Given the description of an element on the screen output the (x, y) to click on. 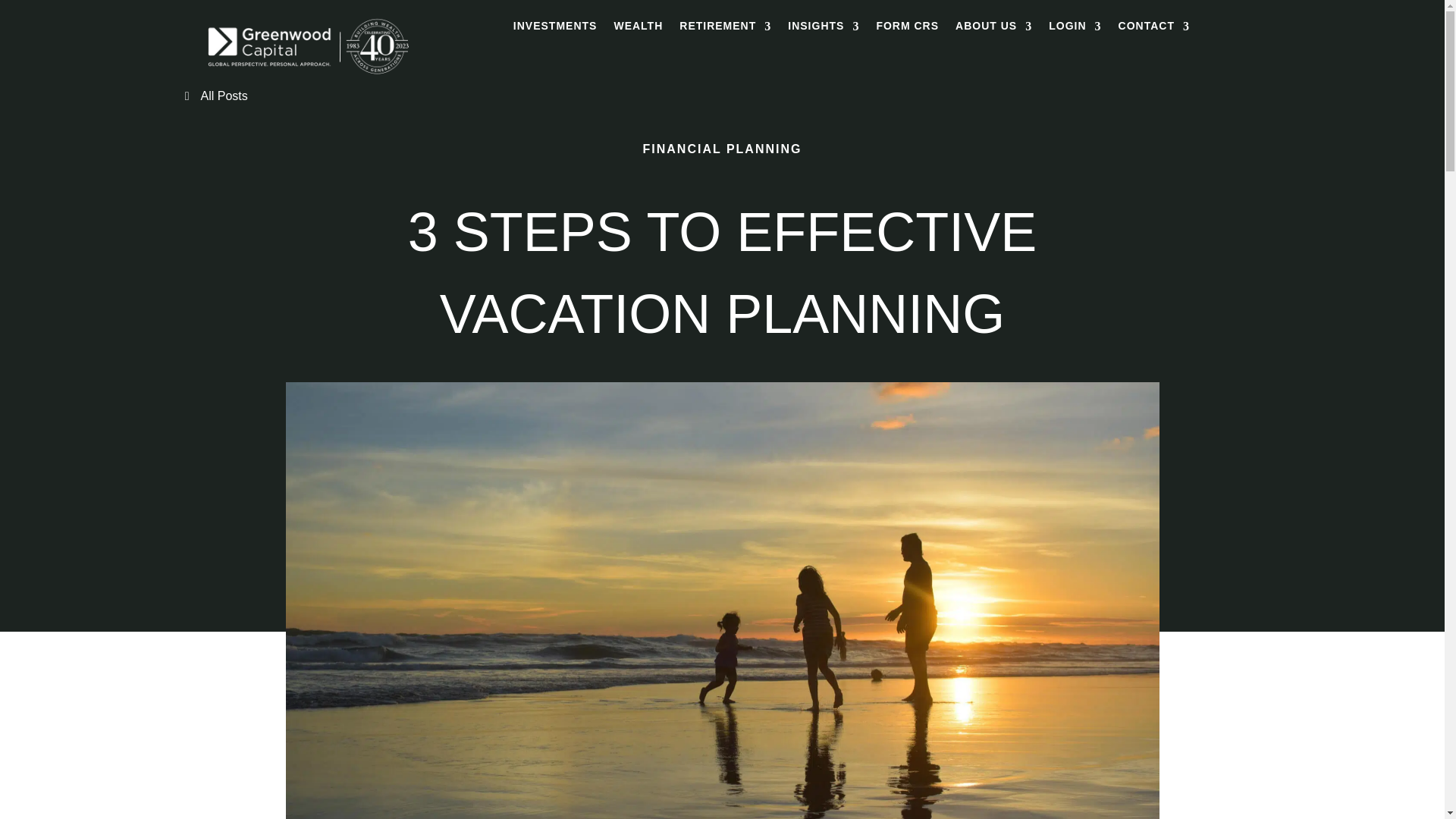
INVESTMENTS (554, 29)
gwc-40-logo-white-hc (308, 75)
WEALTH (637, 29)
